Given the description of an element on the screen output the (x, y) to click on. 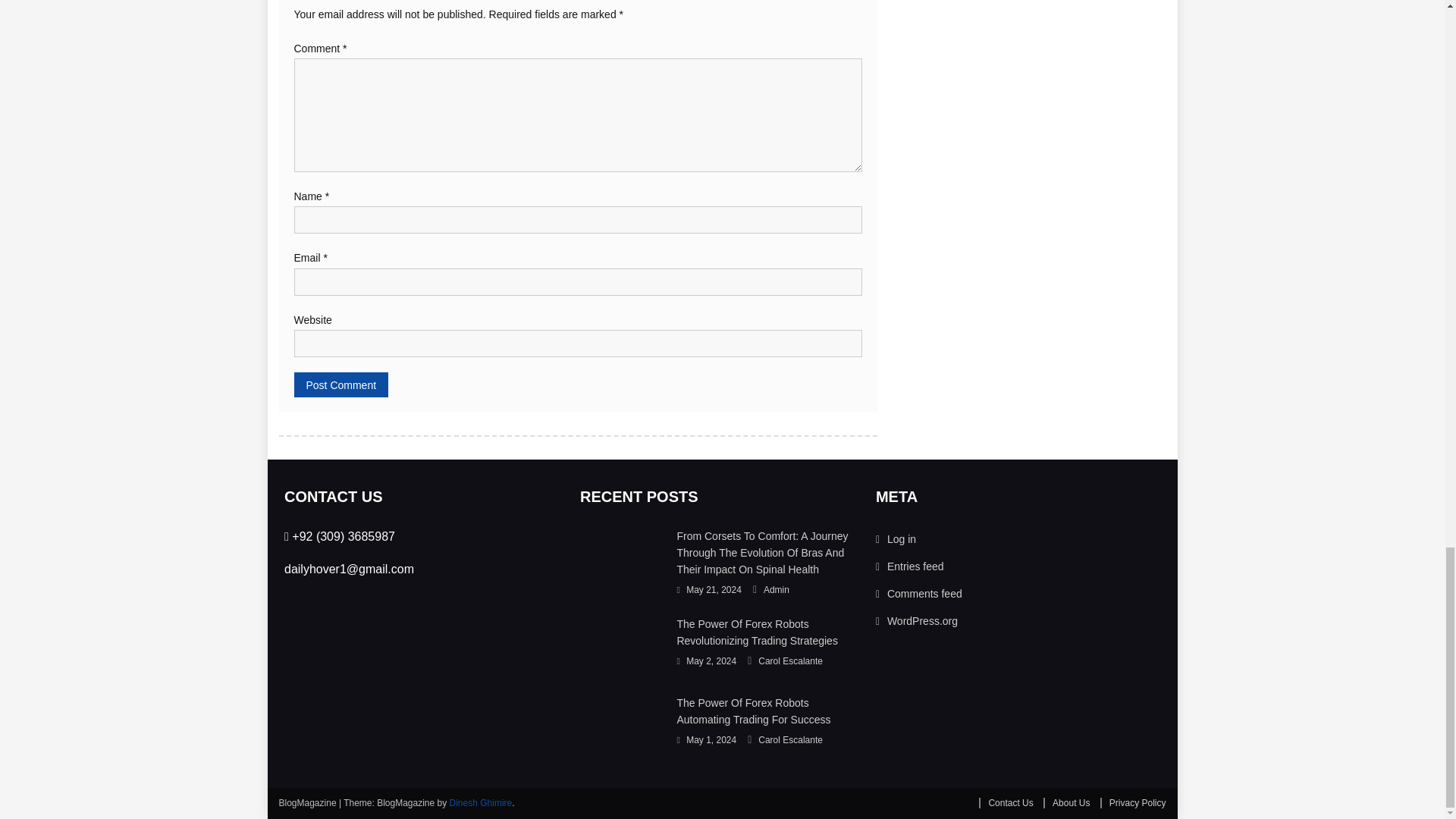
Post Comment (341, 384)
